Given the description of an element on the screen output the (x, y) to click on. 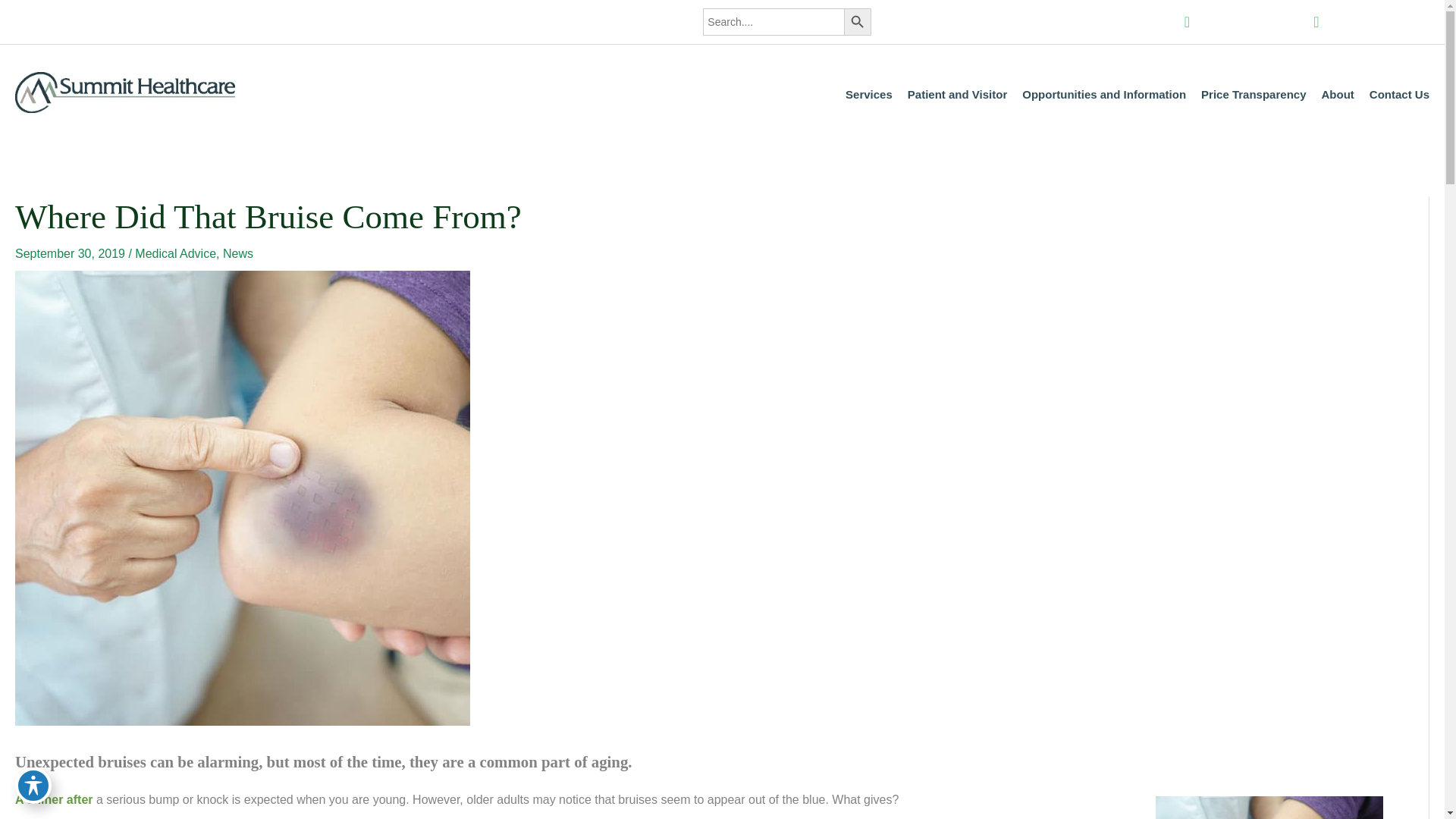
Services (868, 94)
Search Button (857, 22)
Follow My Health (1125, 21)
Donate (1049, 21)
928-537-4375 (1371, 21)
Show Low, AZ (1243, 21)
Request Medical Records (950, 21)
